Given the description of an element on the screen output the (x, y) to click on. 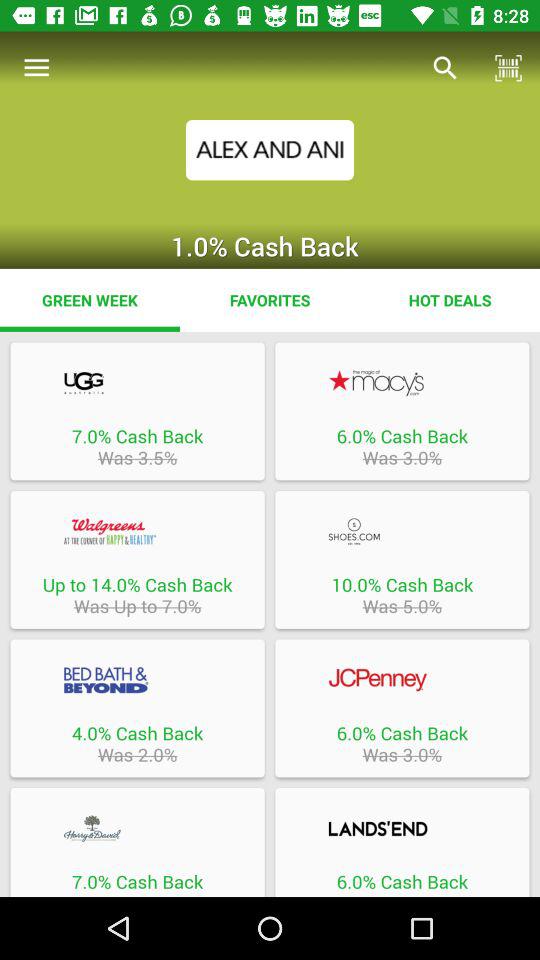
store name (402, 828)
